Given the description of an element on the screen output the (x, y) to click on. 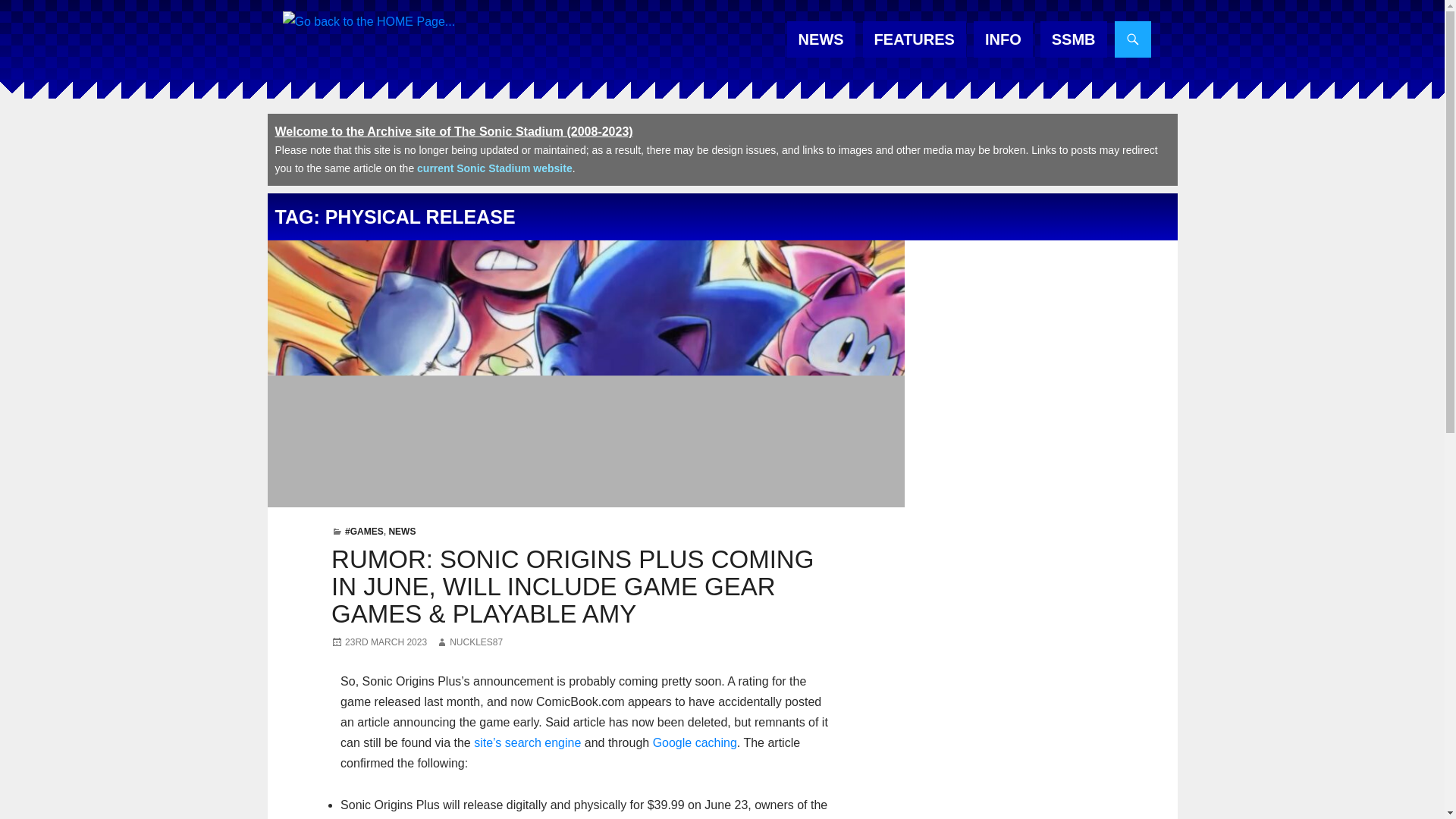
INFO (1003, 39)
FEATURES (914, 39)
NEWS (821, 39)
SSMB (1073, 39)
Go back to the HOME Page... (368, 21)
